Given the description of an element on the screen output the (x, y) to click on. 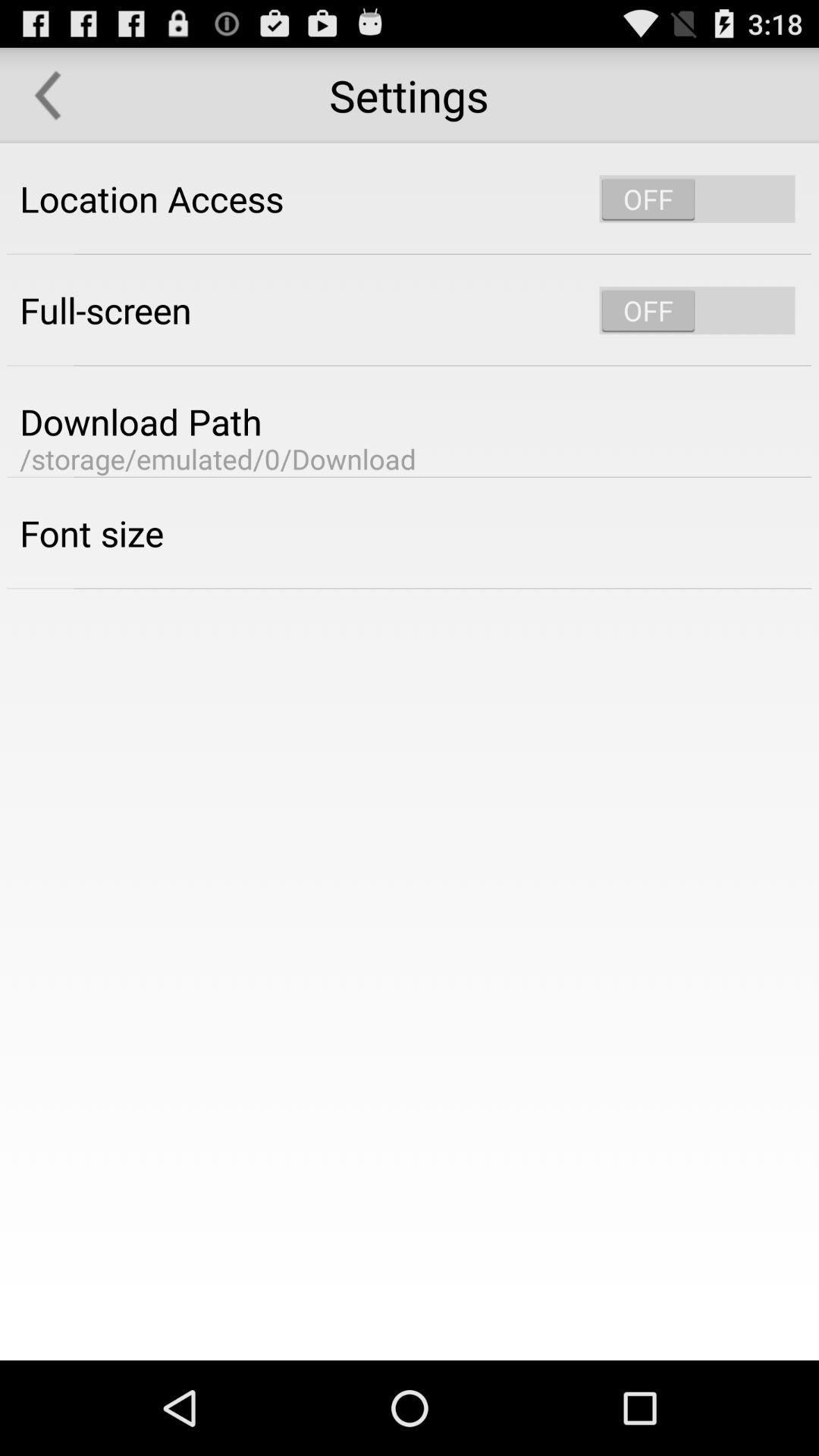
switch off option (697, 310)
